Given the description of an element on the screen output the (x, y) to click on. 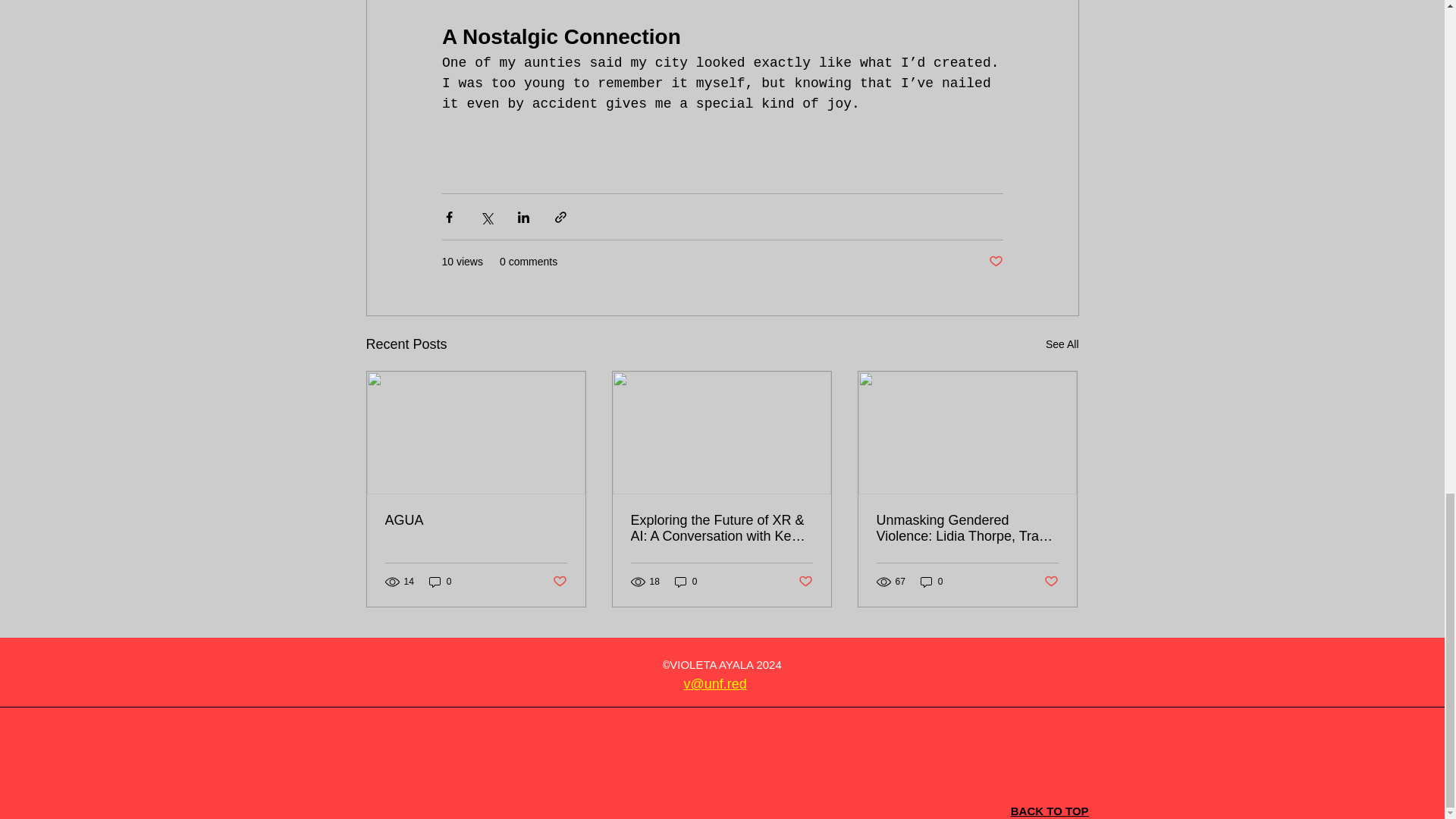
Post not marked as liked (995, 261)
AGUA (476, 520)
Post not marked as liked (558, 581)
See All (1061, 344)
0 (440, 581)
